Given the description of an element on the screen output the (x, y) to click on. 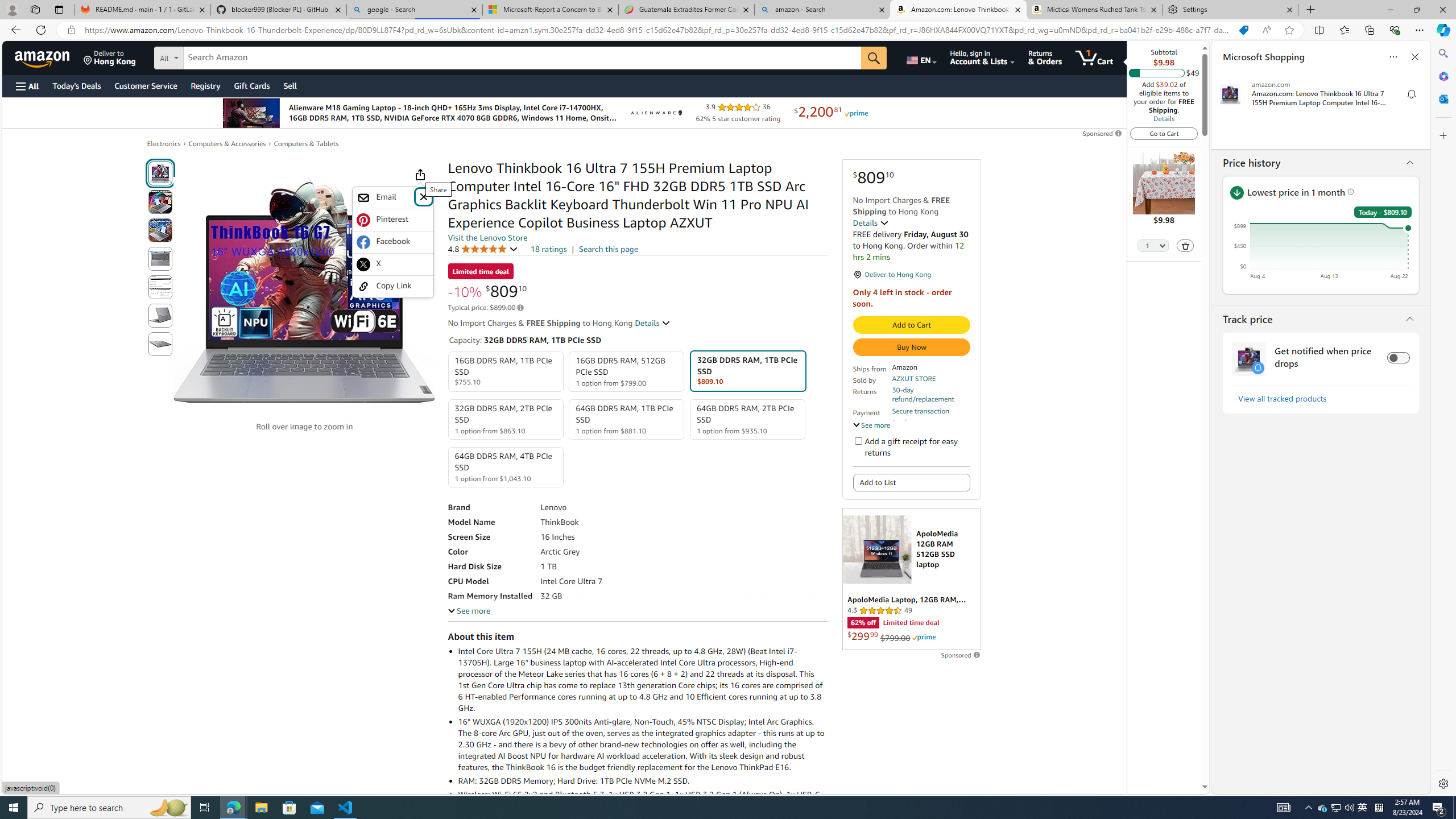
Visit the Lenovo Store (486, 237)
64GB DDR5 RAM, 4TB PCIe SSD 1 option from $1,043.10 (505, 466)
32GB DDR5 RAM, 1TB PCIe SSD $809.10 (747, 370)
